Given the description of an element on the screen output the (x, y) to click on. 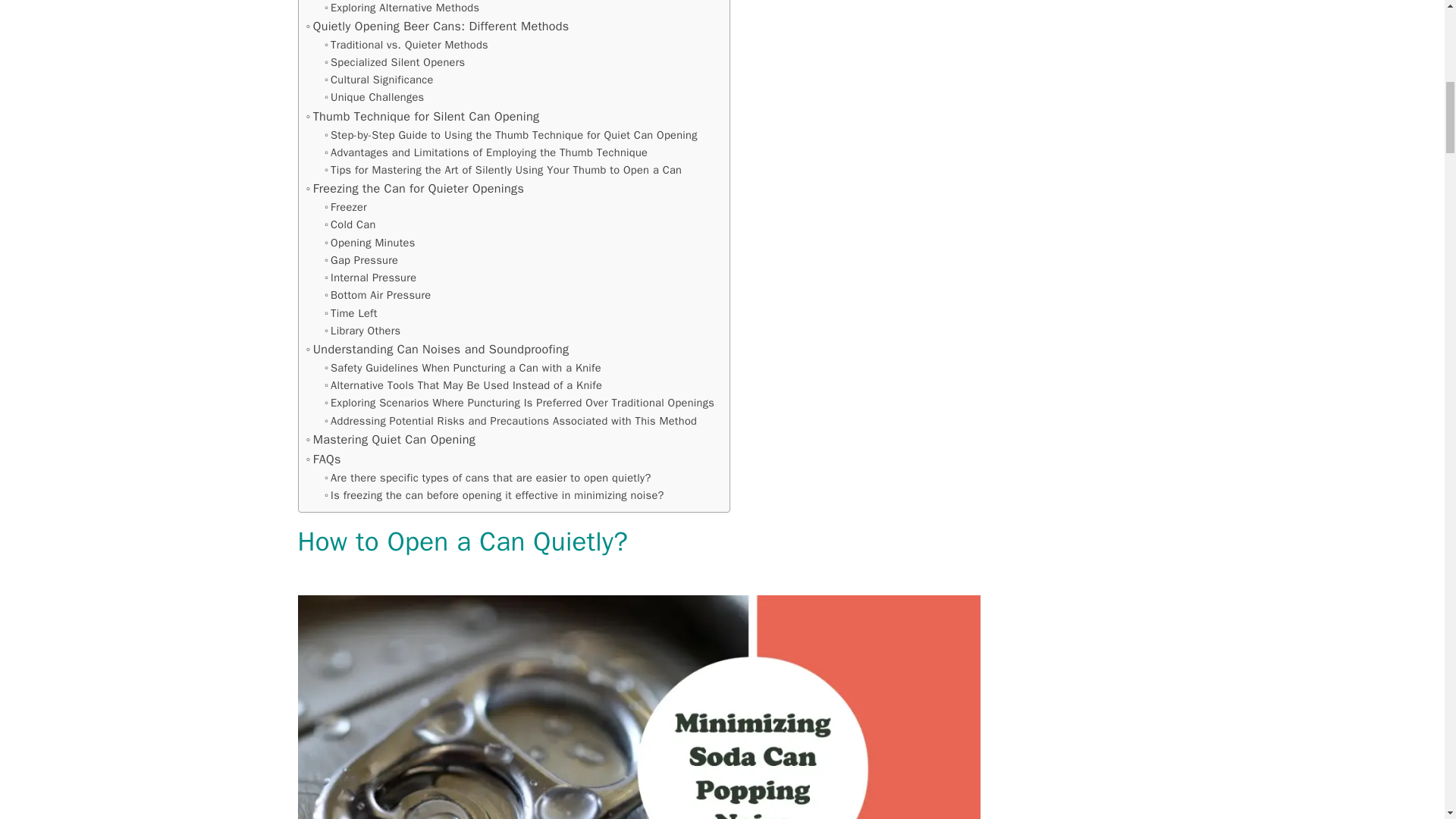
Bottom Air Pressure (377, 294)
Thumb Technique for Silent Can Opening (422, 116)
Thumb Technique for Silent Can Opening (422, 116)
Exploring Alternative Methods (402, 8)
Unique Challenges (374, 97)
Library Others (362, 330)
Freezer (345, 207)
Cold Can (349, 224)
Cultural Significance (378, 79)
Specialized Silent Openers (394, 62)
Advantages and Limitations of Employing the Thumb Technique (485, 152)
Cultural Significance (378, 79)
